Given the description of an element on the screen output the (x, y) to click on. 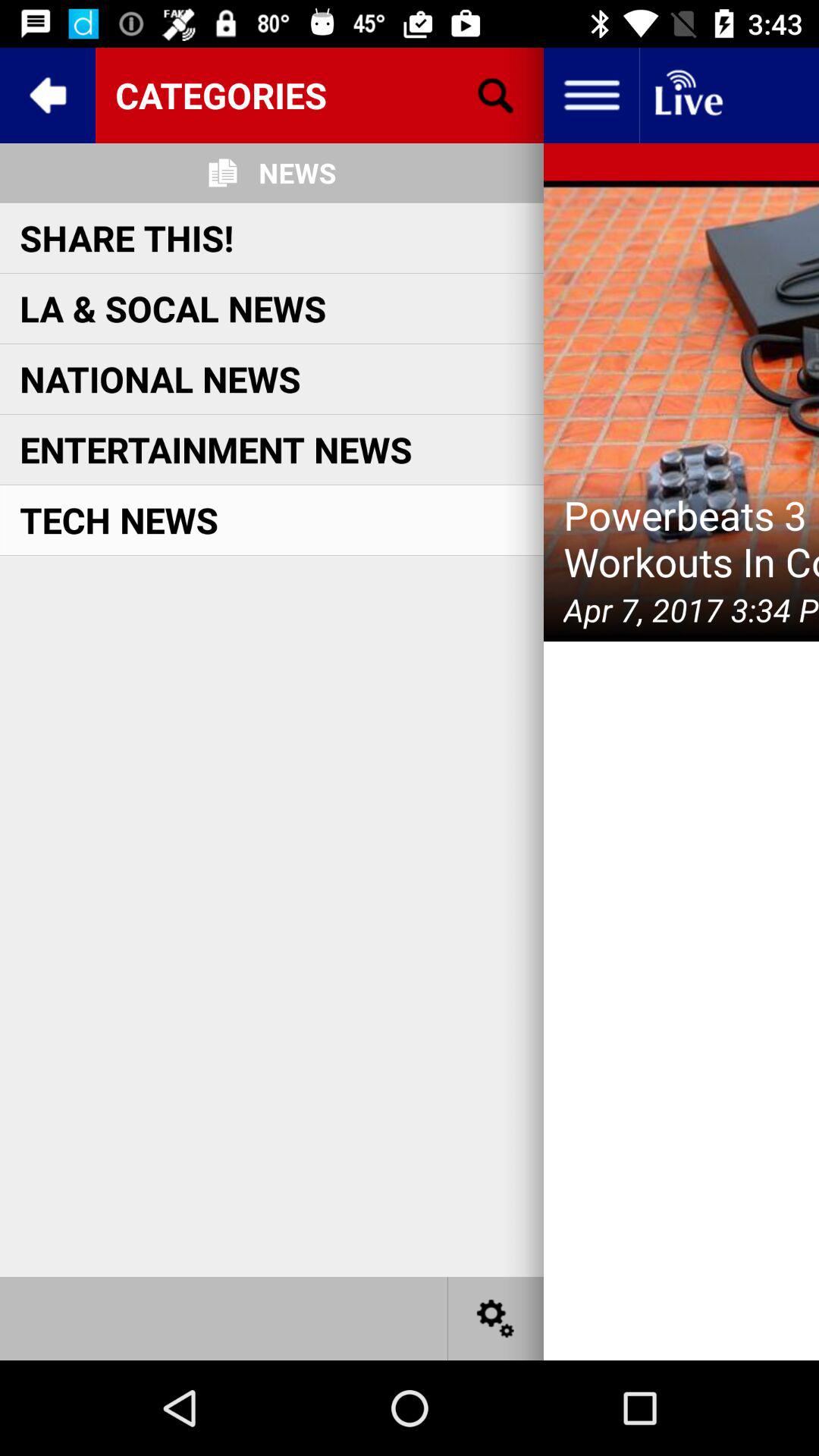
turn on icon to the right of the news item (495, 95)
